Given the description of an element on the screen output the (x, y) to click on. 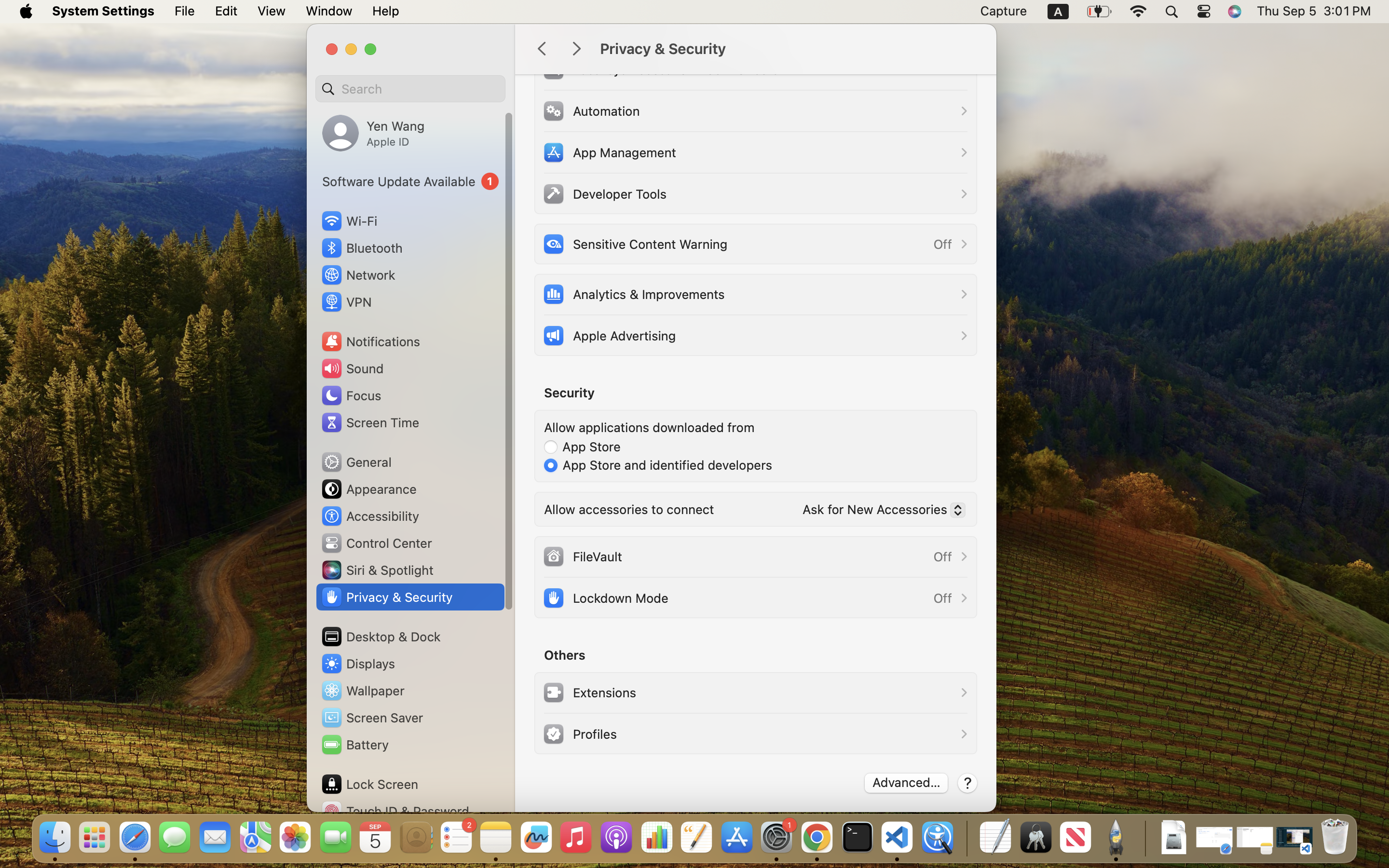
General Element type: AXStaticText (355, 461)
Notifications Element type: AXStaticText (370, 340)
Bluetooth Element type: AXStaticText (361, 247)
Control Center Element type: AXStaticText (376, 542)
